Given the description of an element on the screen output the (x, y) to click on. 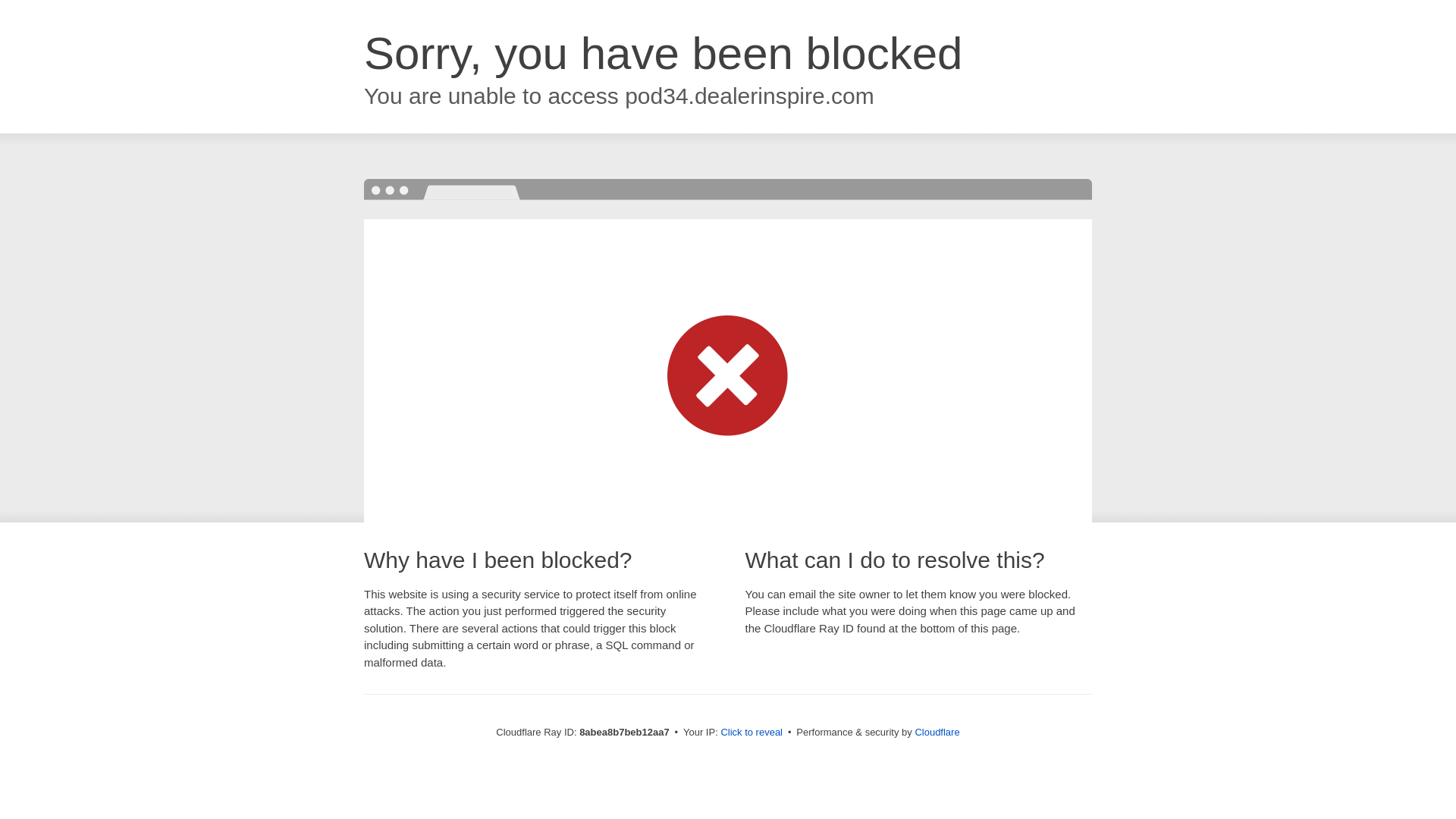
Click to reveal (751, 732)
Cloudflare (936, 731)
